Given the description of an element on the screen output the (x, y) to click on. 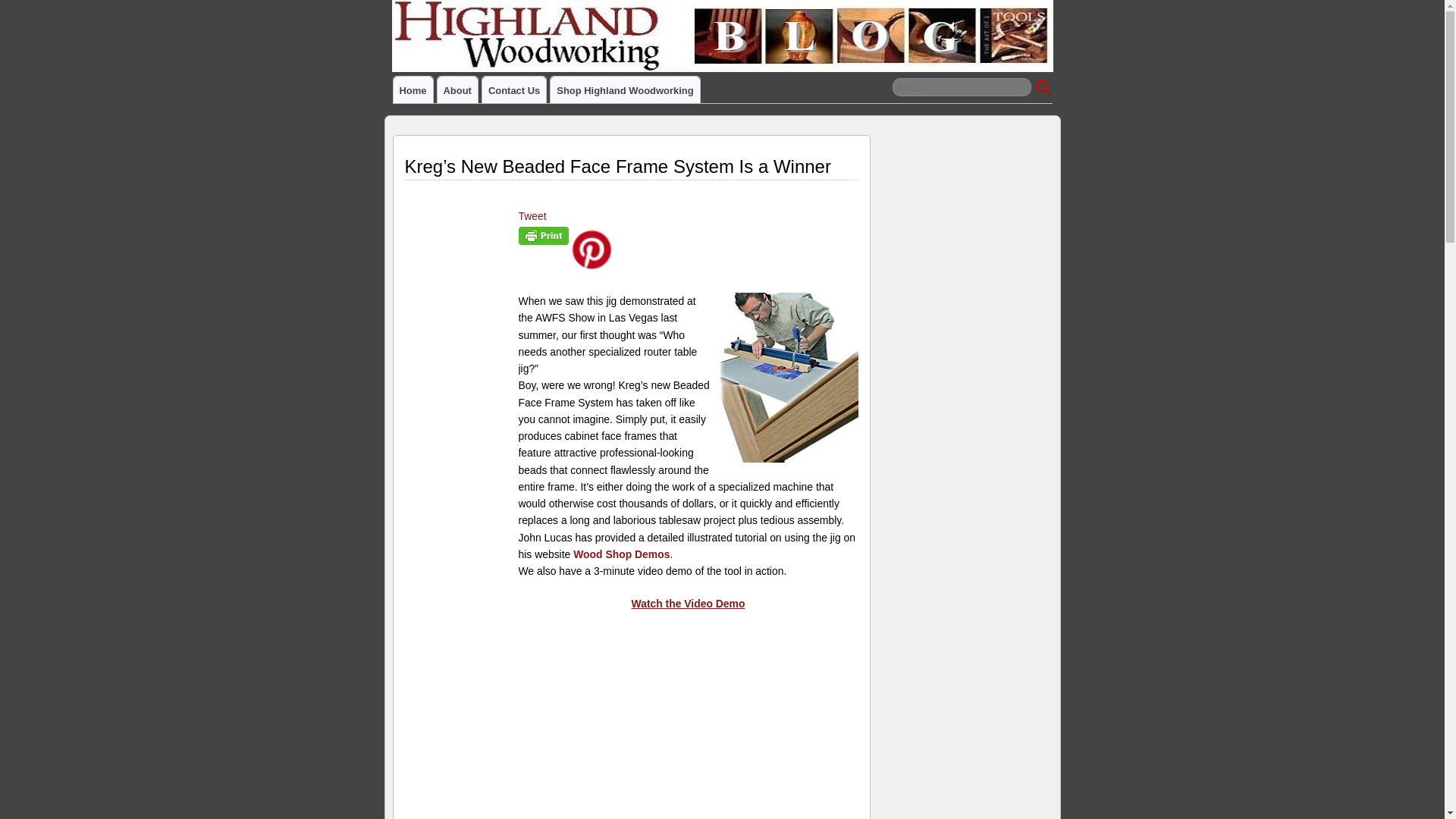
Home (412, 89)
Tweet (532, 215)
About (456, 89)
Watch the Video Demo (688, 603)
Contact Us (513, 89)
Wood Shop Demos (621, 553)
Shop Highland Woodworking (624, 89)
